Given the description of an element on the screen output the (x, y) to click on. 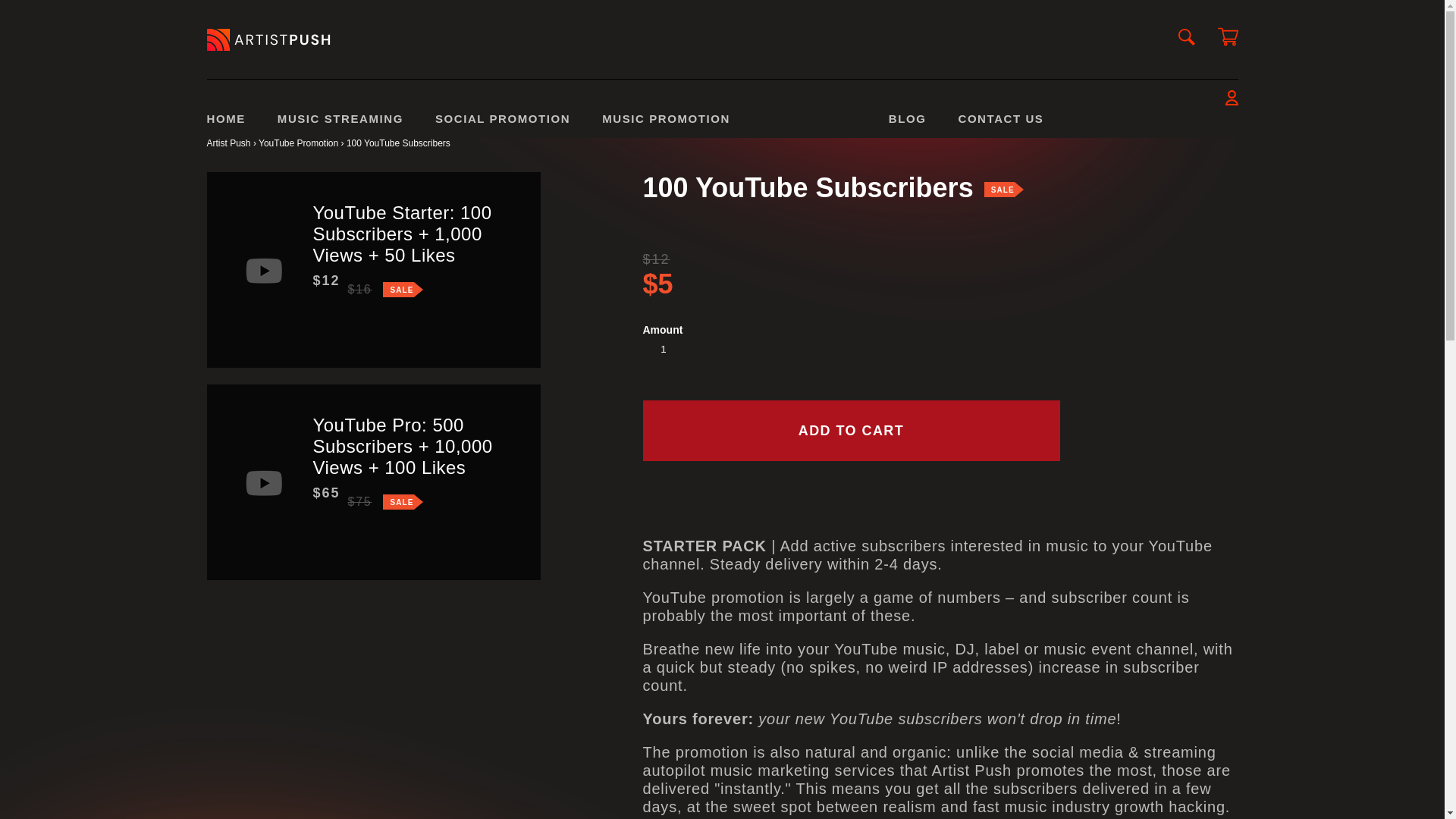
MUSIC STREAMING (340, 124)
MUSIC PROMOTION (666, 124)
Cart (1228, 39)
Home (228, 143)
BLOG (907, 124)
SOCIAL PROMOTION (502, 124)
HOME (225, 124)
Artist Push (228, 143)
1 (669, 348)
ADD TO CART (851, 430)
Home (298, 143)
YouTube Promotion (298, 143)
CONTACT US (1000, 124)
